Given the description of an element on the screen output the (x, y) to click on. 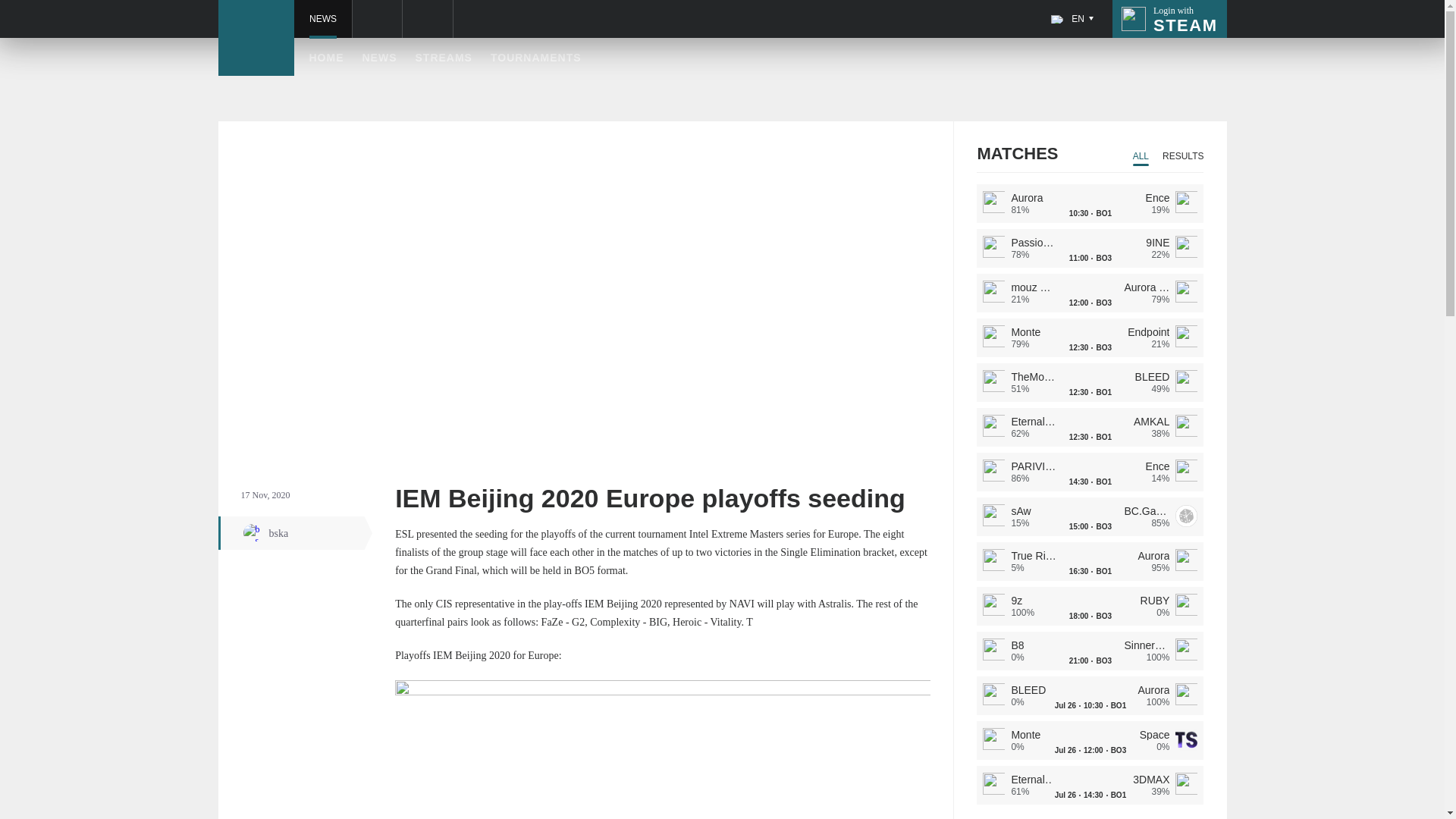
STREAMS (442, 57)
bska (295, 532)
HOME (325, 57)
TOURNAMENTS (1169, 18)
NEWS (535, 57)
NEWS (322, 18)
